Given the description of an element on the screen output the (x, y) to click on. 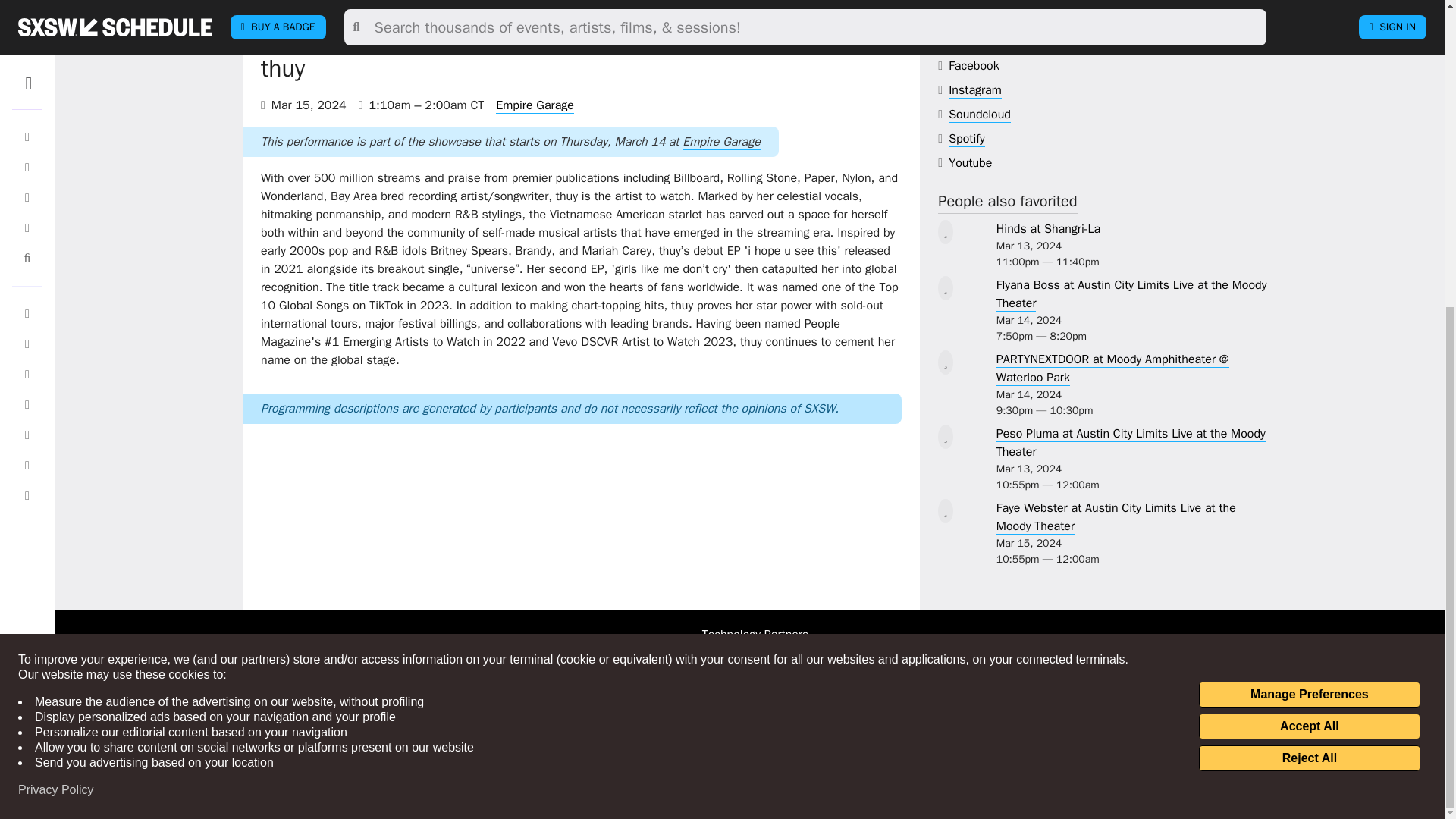
Privacy Policy (55, 306)
website (989, 17)
Empire Garage (721, 141)
Manage Preferences (1309, 211)
Accept All (1309, 243)
Reject All (1309, 275)
apple (981, 41)
Empire Garage (534, 105)
facebook (973, 66)
instagram (975, 90)
